Given the description of an element on the screen output the (x, y) to click on. 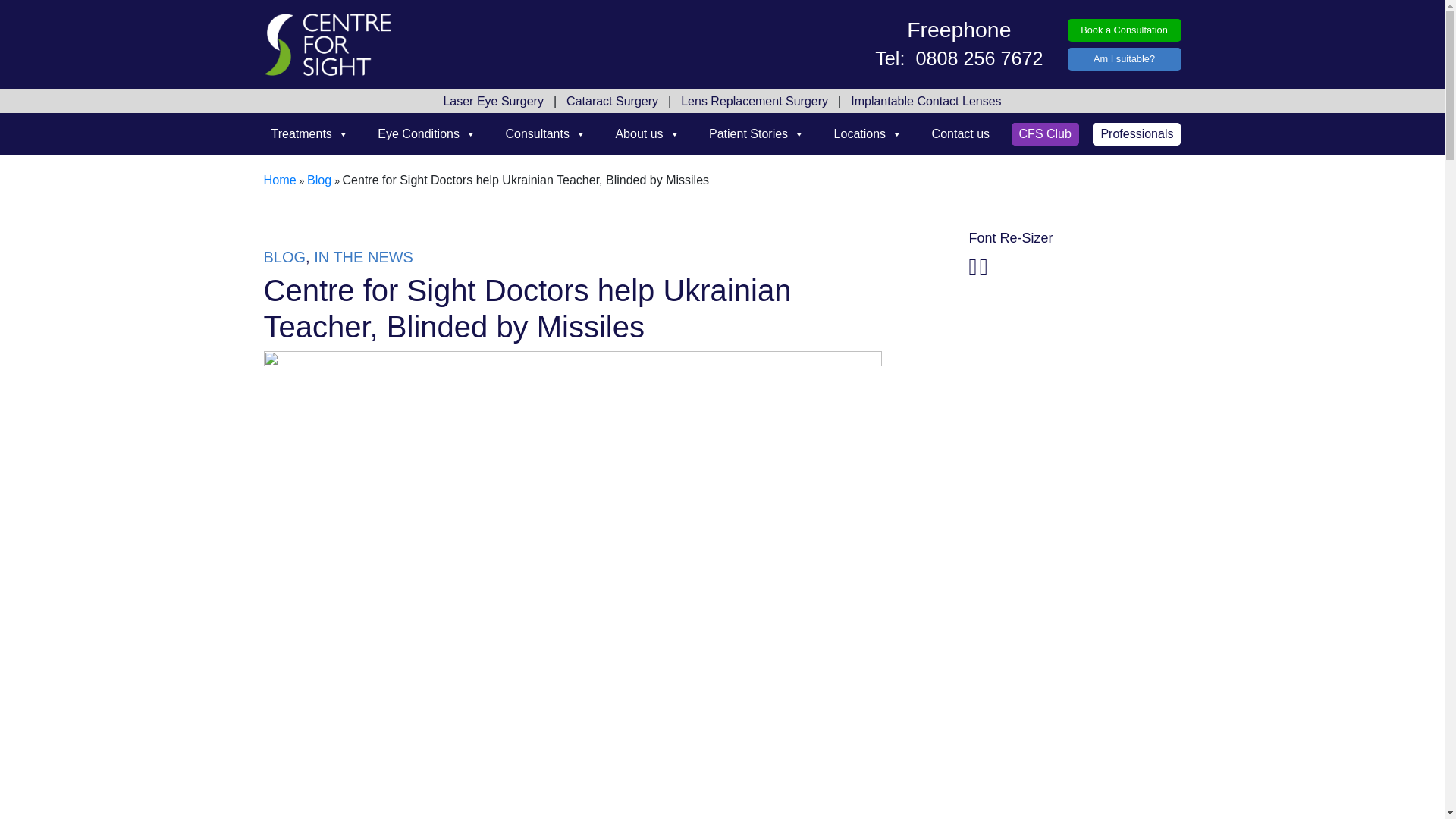
0808 256 7672 (976, 56)
Laser Eye Surgery (493, 101)
Treatments (309, 133)
Lens Replacement Surgery (754, 101)
Book a Consultation (1123, 30)
Go to the Blog category archives. (319, 180)
Cataract Surgery (612, 101)
Am I suitable? (1123, 58)
Implantable Contact Lenses (925, 101)
